Given the description of an element on the screen output the (x, y) to click on. 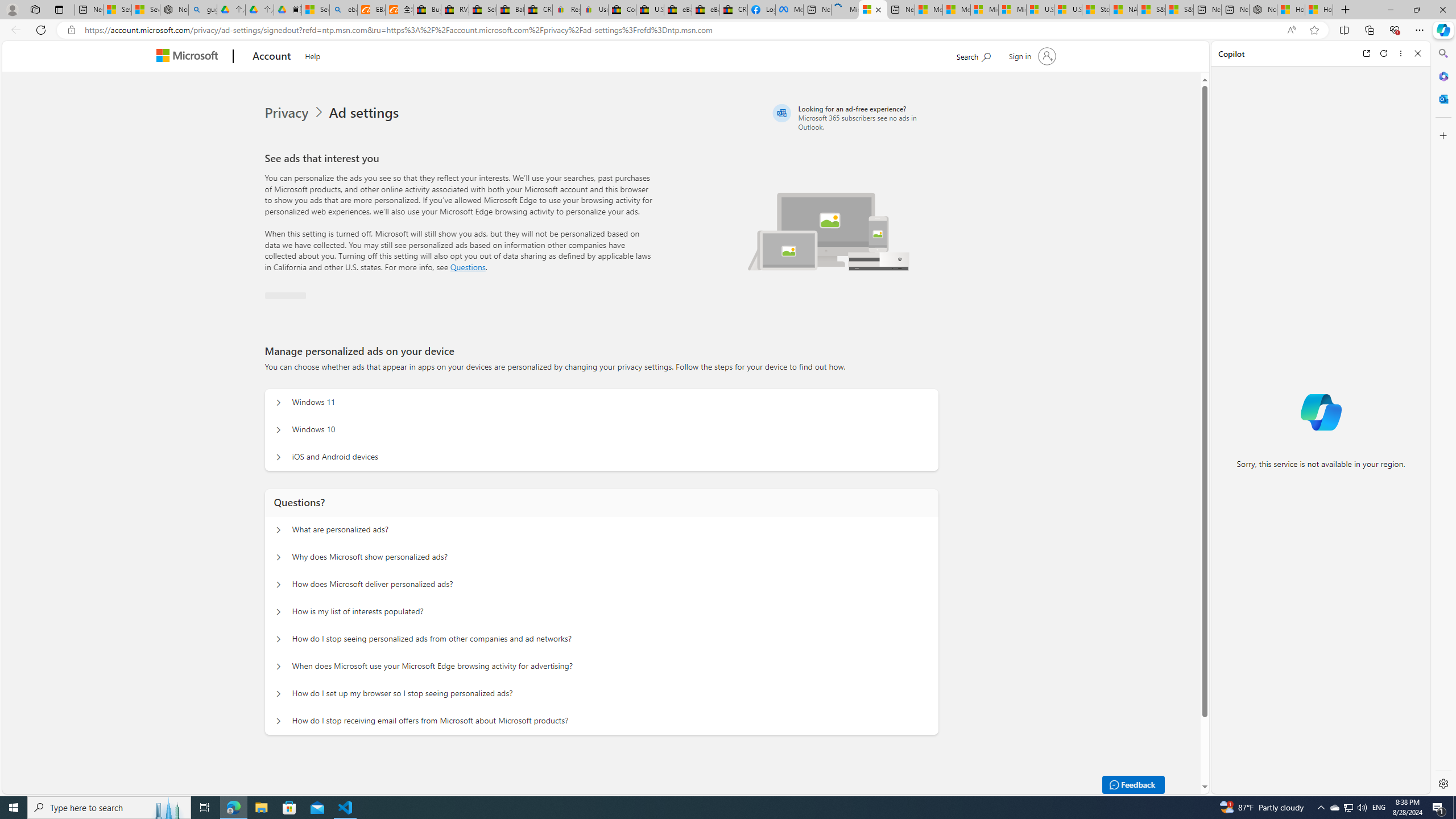
Register: Create a personal eBay account (566, 9)
